Given the description of an element on the screen output the (x, y) to click on. 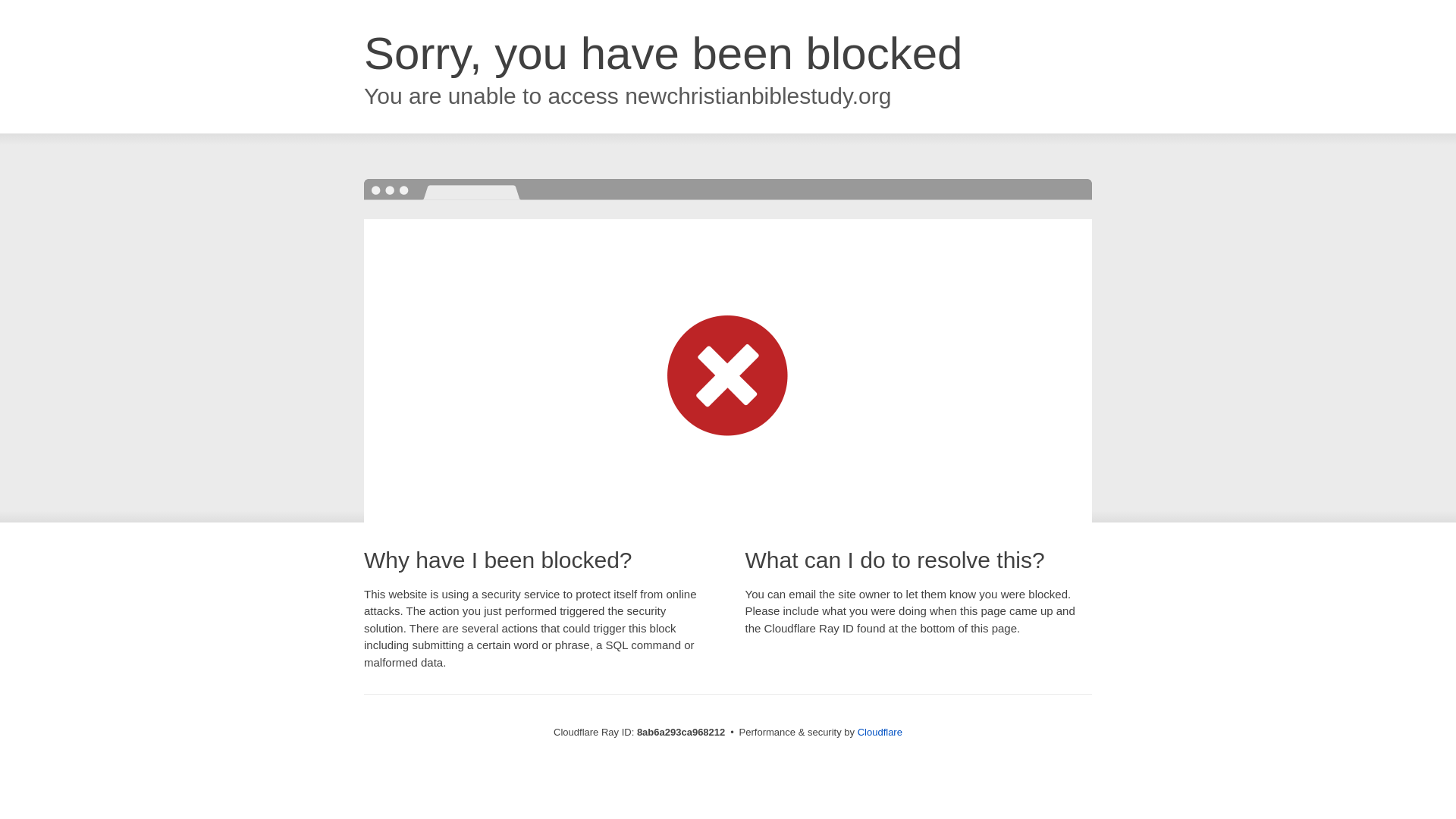
Cloudflare (879, 731)
